Given the description of an element on the screen output the (x, y) to click on. 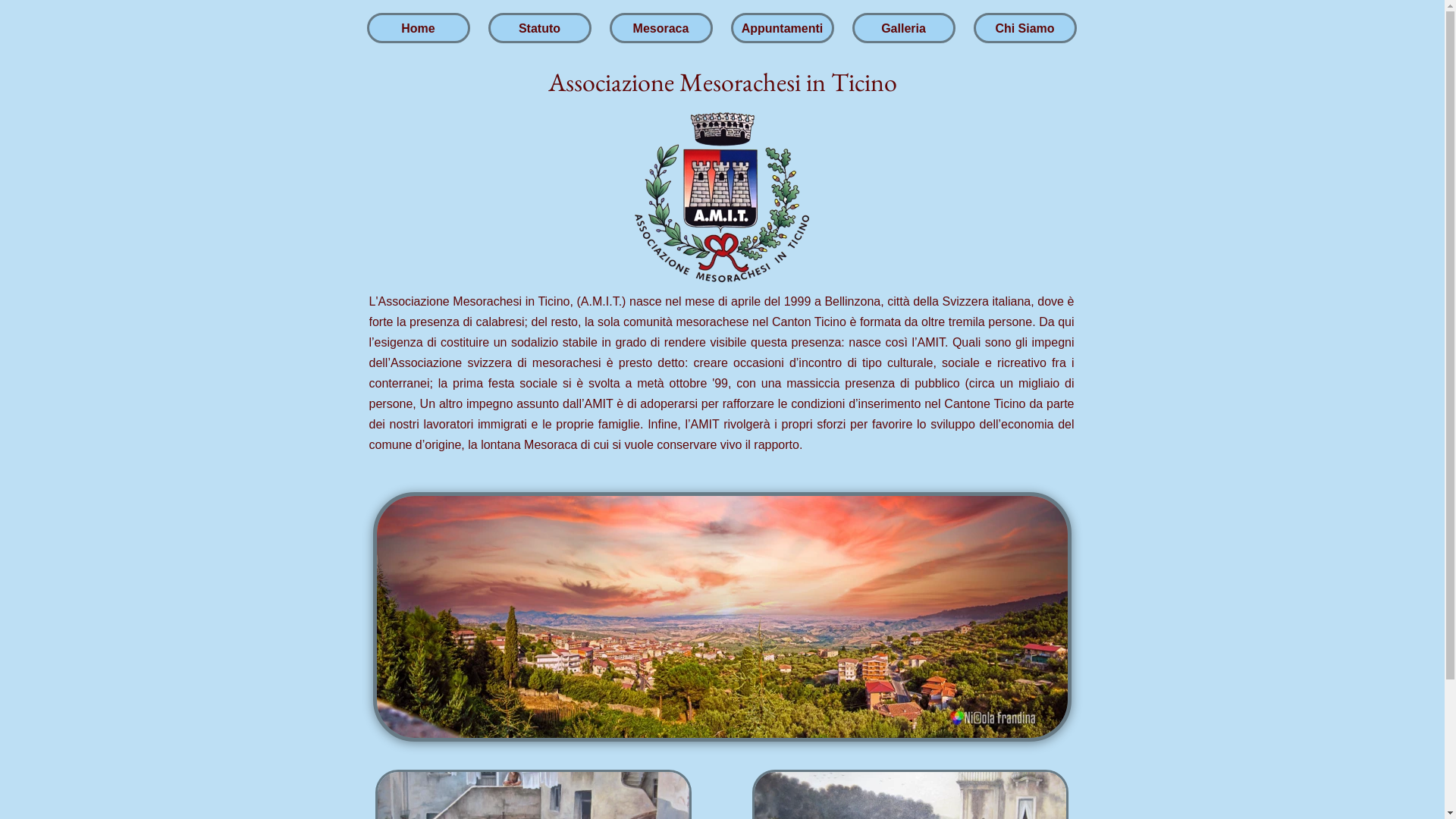
Galleria Element type: text (902, 32)
Appuntamenti Element type: text (781, 32)
Chi Siamo Element type: text (1024, 32)
Mesoraca Element type: text (660, 32)
Home Element type: text (417, 32)
Statuto Element type: text (538, 32)
